Given the description of an element on the screen output the (x, y) to click on. 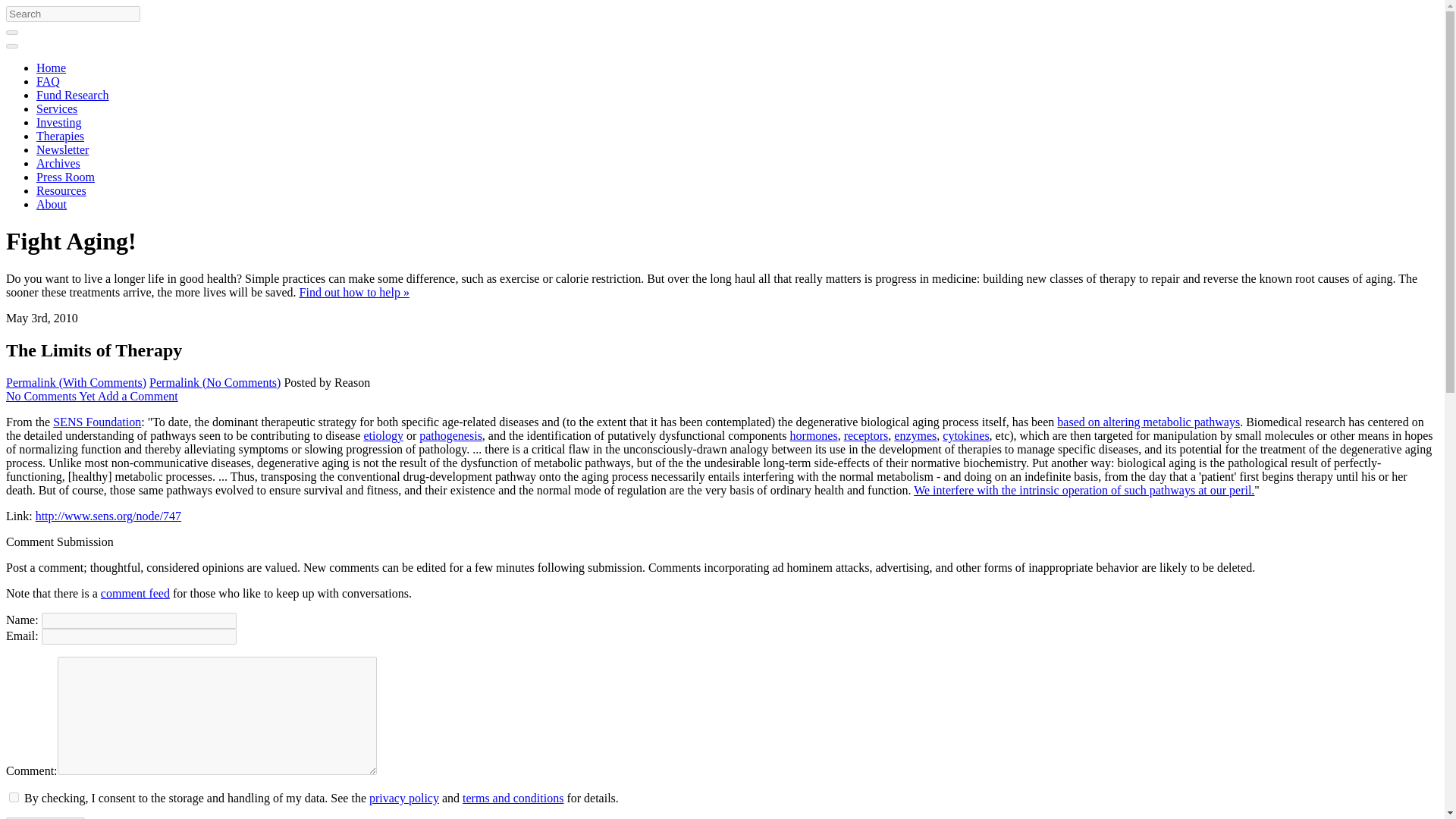
Press Room (65, 176)
FAQ (47, 81)
SENS Foundation (96, 421)
comment feed (135, 593)
enzymes (914, 435)
Services (56, 108)
1 (13, 797)
Newsletter (62, 149)
About (51, 204)
receptors (866, 435)
